Given the description of an element on the screen output the (x, y) to click on. 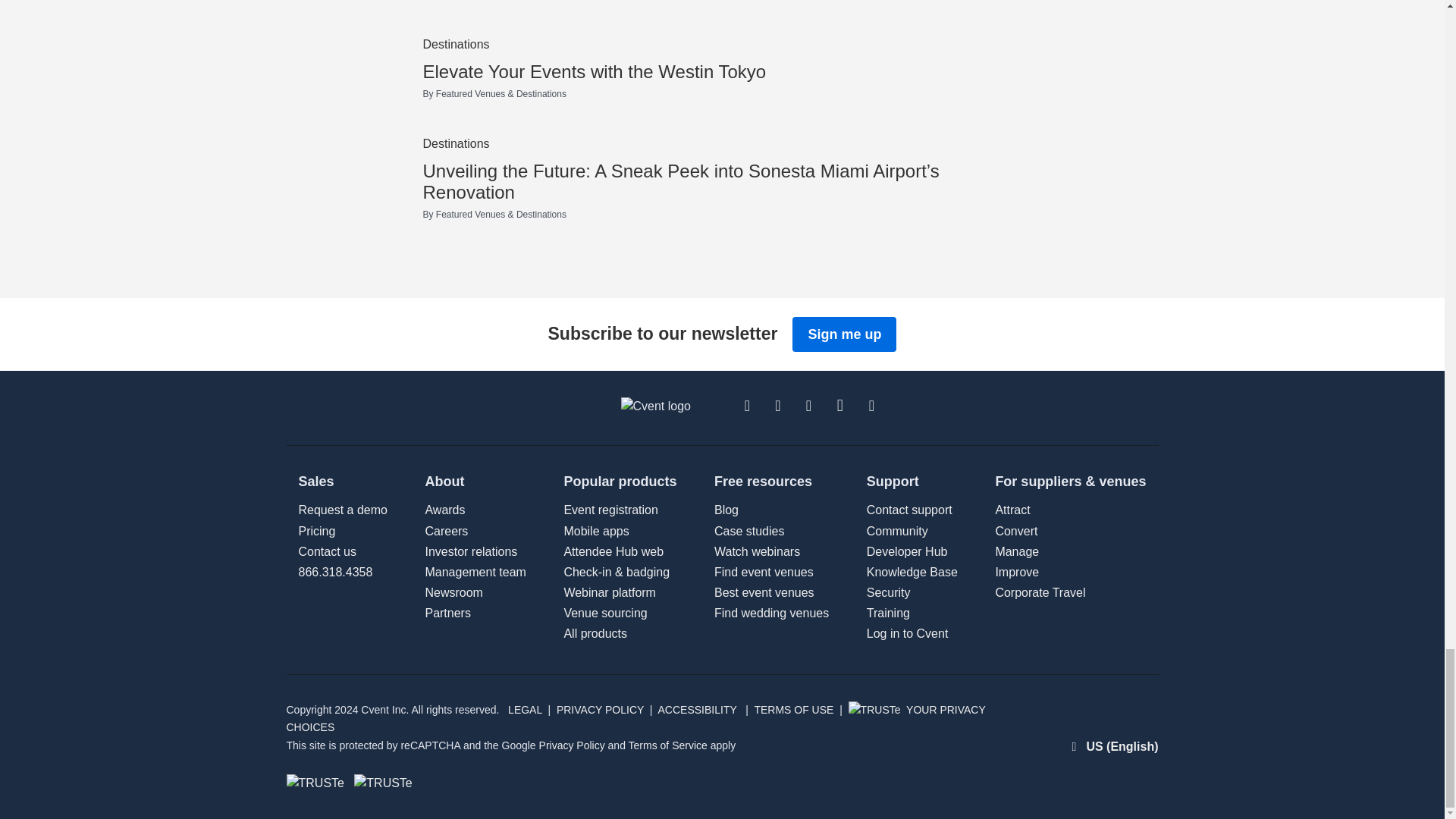
Management team (447, 612)
Legal (453, 592)
About (595, 633)
Blog (726, 509)
Developers (906, 551)
Security (888, 592)
Knowledge Base (912, 571)
